Given the description of an element on the screen output the (x, y) to click on. 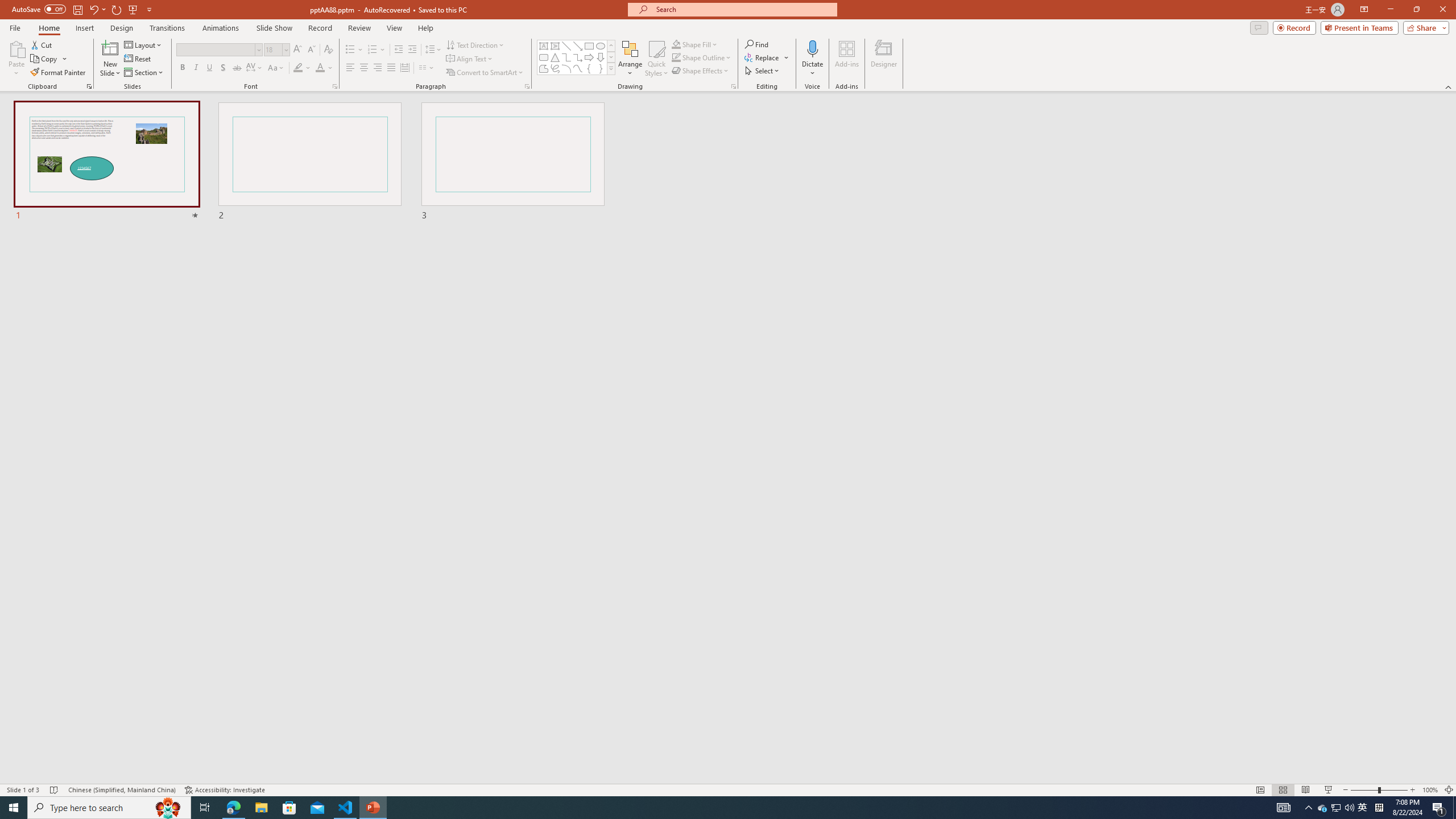
Layout (143, 44)
Bold (182, 67)
Format Painter (58, 72)
Reset (138, 58)
New Slide (110, 48)
Text Box (543, 45)
Font... (334, 85)
Office Clipboard... (88, 85)
Freeform: Shape (543, 68)
Oval (600, 45)
Right Brace (600, 68)
Increase Font Size (297, 49)
Dictate (812, 58)
